Given the description of an element on the screen output the (x, y) to click on. 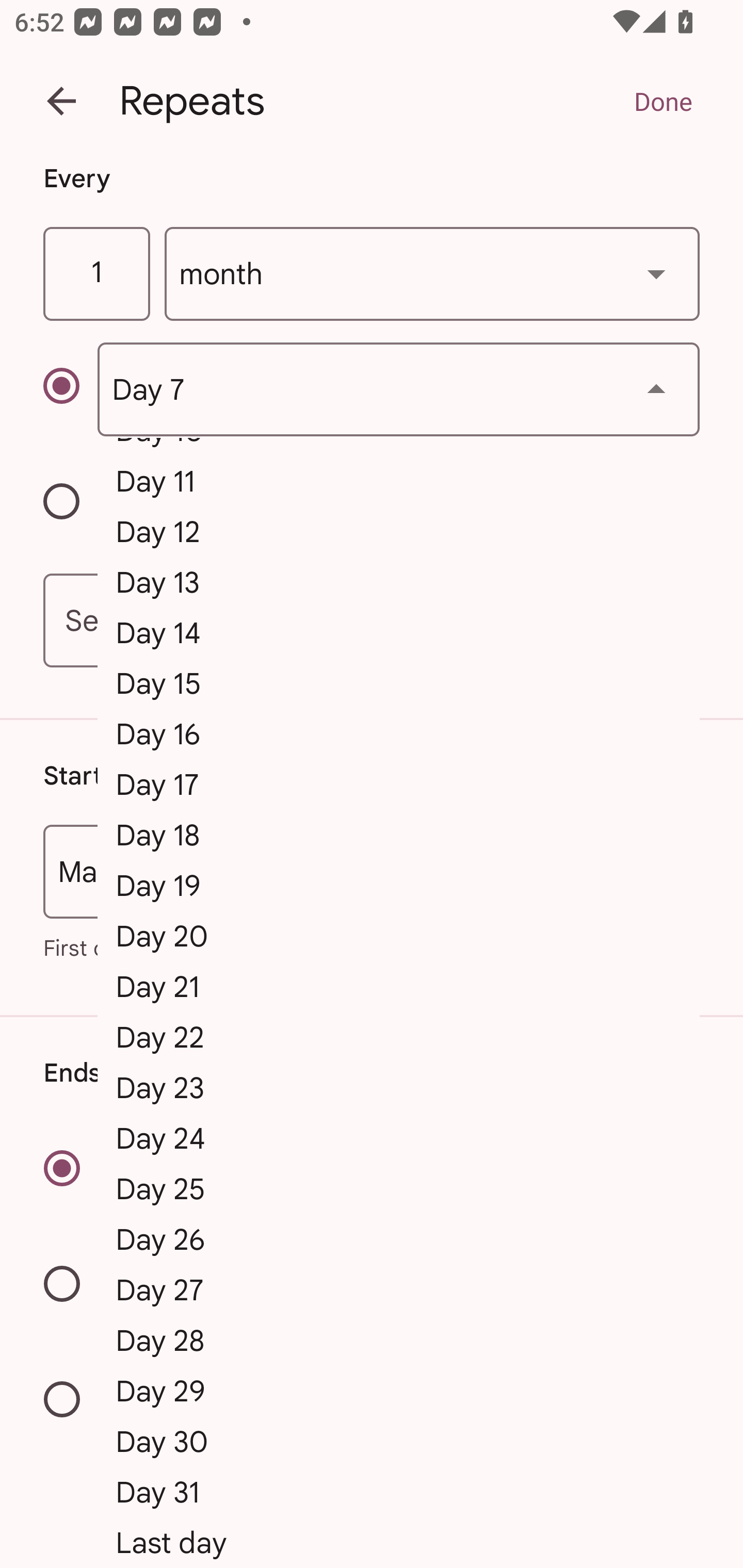
Back (61, 101)
Done (663, 101)
1 (96, 274)
month (431, 274)
Show dropdown menu (655, 273)
Day 7 (398, 388)
Show dropdown menu (655, 389)
Repeat monthly on a specific day of the month (70, 389)
